Given the description of an element on the screen output the (x, y) to click on. 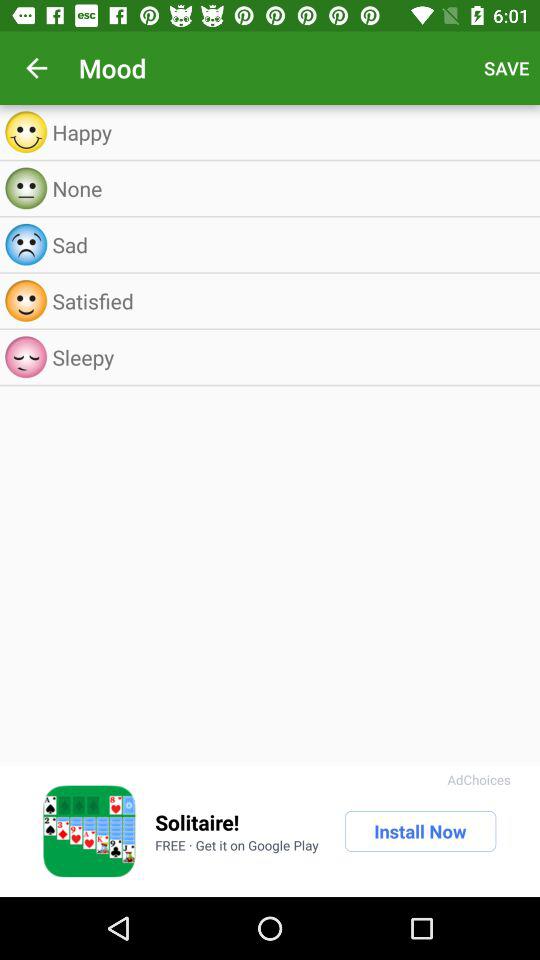
jump until sleepy (290, 357)
